Given the description of an element on the screen output the (x, y) to click on. 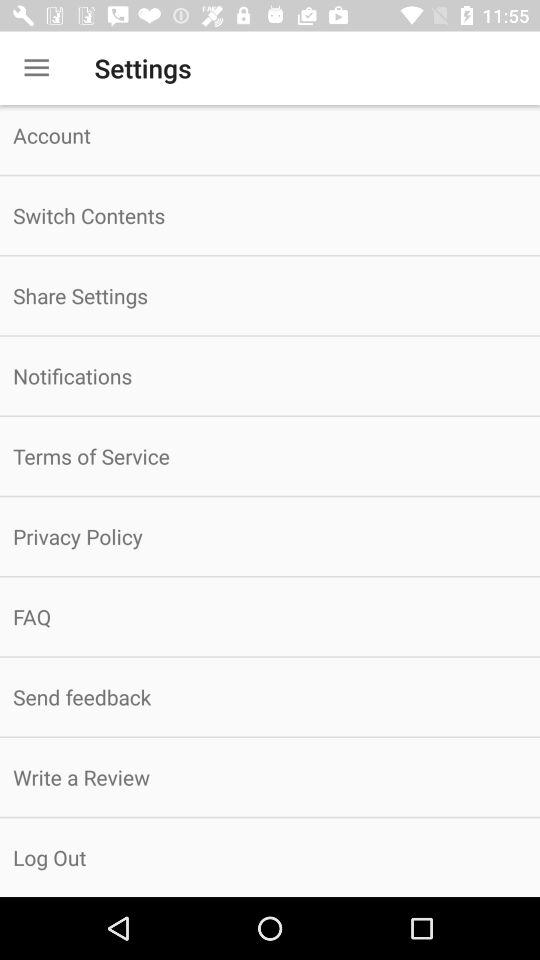
turn on icon below the notifications (270, 455)
